Given the description of an element on the screen output the (x, y) to click on. 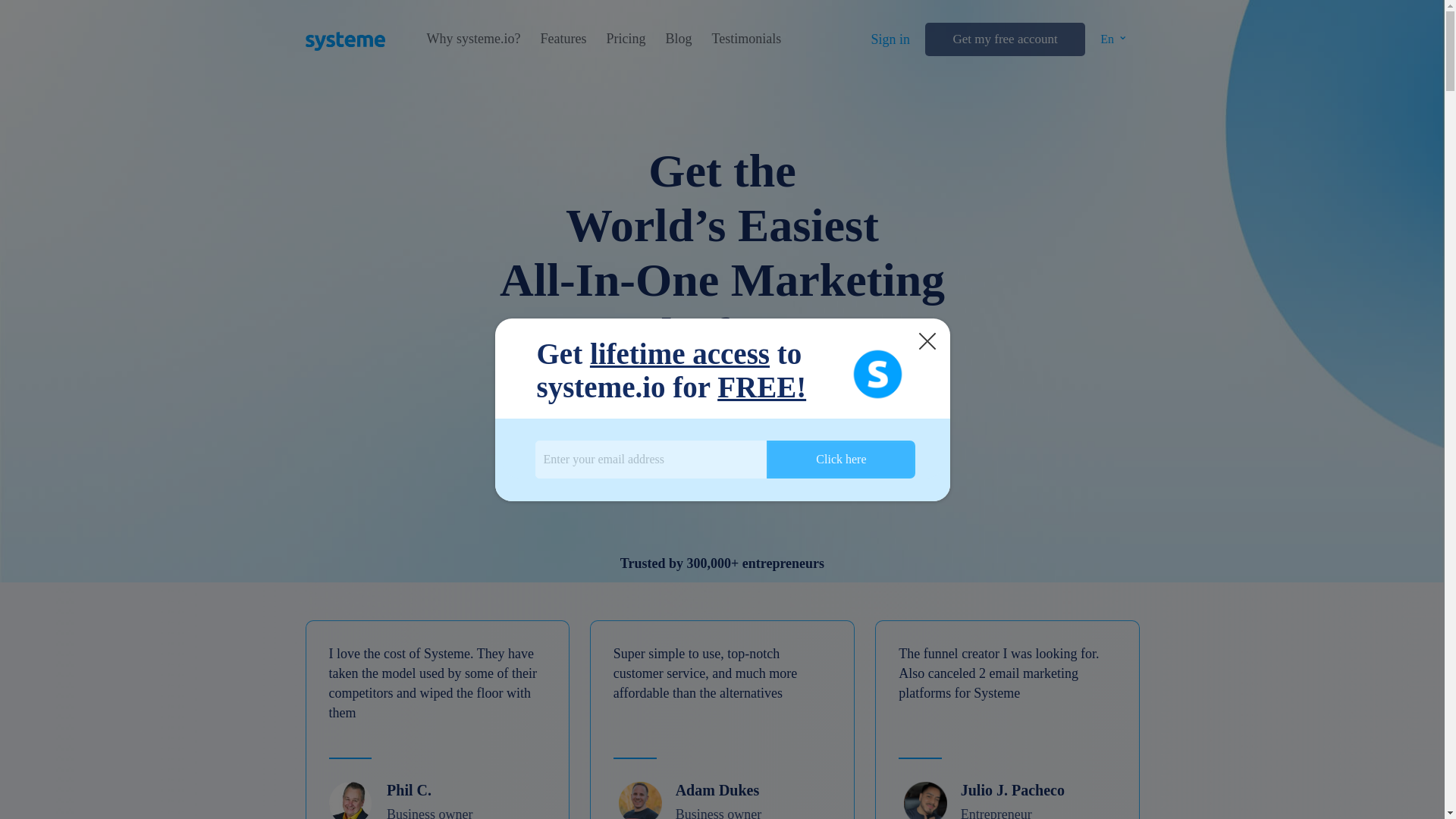
Pricing (625, 38)
Why systeme.io? (472, 38)
Features (563, 38)
Blog (678, 38)
Sign in (890, 39)
Testimonials (745, 38)
Get my free account (1004, 39)
